Given the description of an element on the screen output the (x, y) to click on. 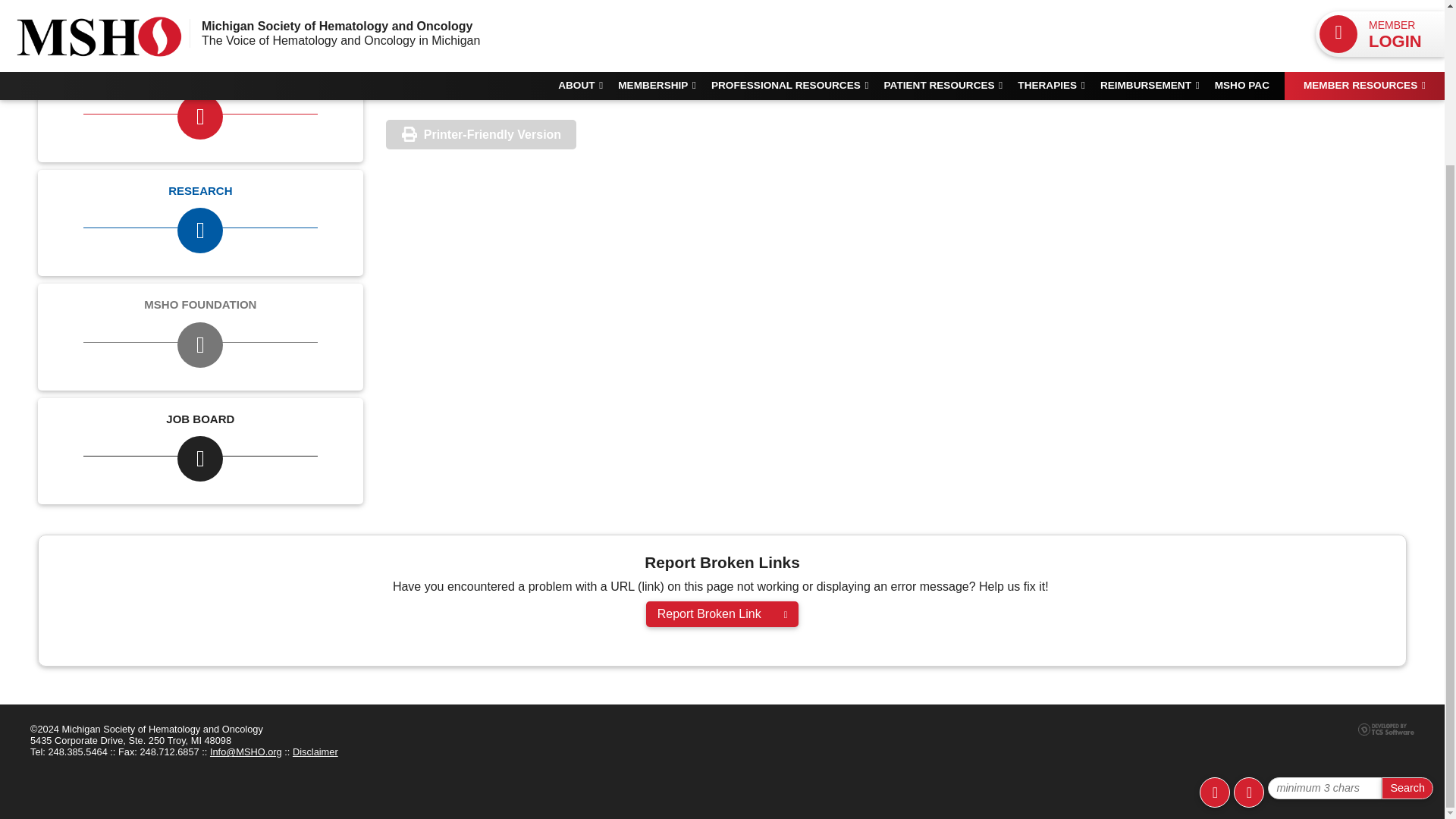
Search (1406, 591)
Search (1406, 591)
Search (1406, 591)
